Given the description of an element on the screen output the (x, y) to click on. 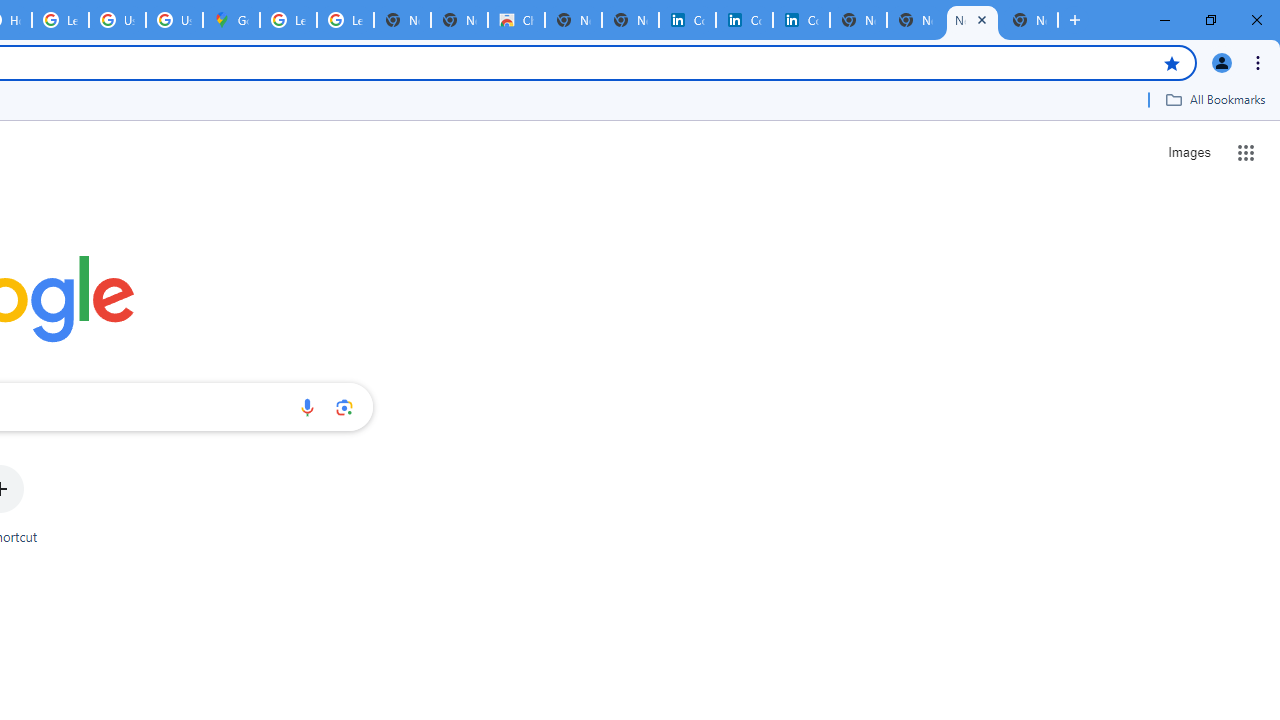
Close (981, 19)
All Bookmarks (1215, 99)
Search by voice (307, 407)
Restore (1210, 20)
New Tab (1029, 20)
Minimize (1165, 20)
